Given the description of an element on the screen output the (x, y) to click on. 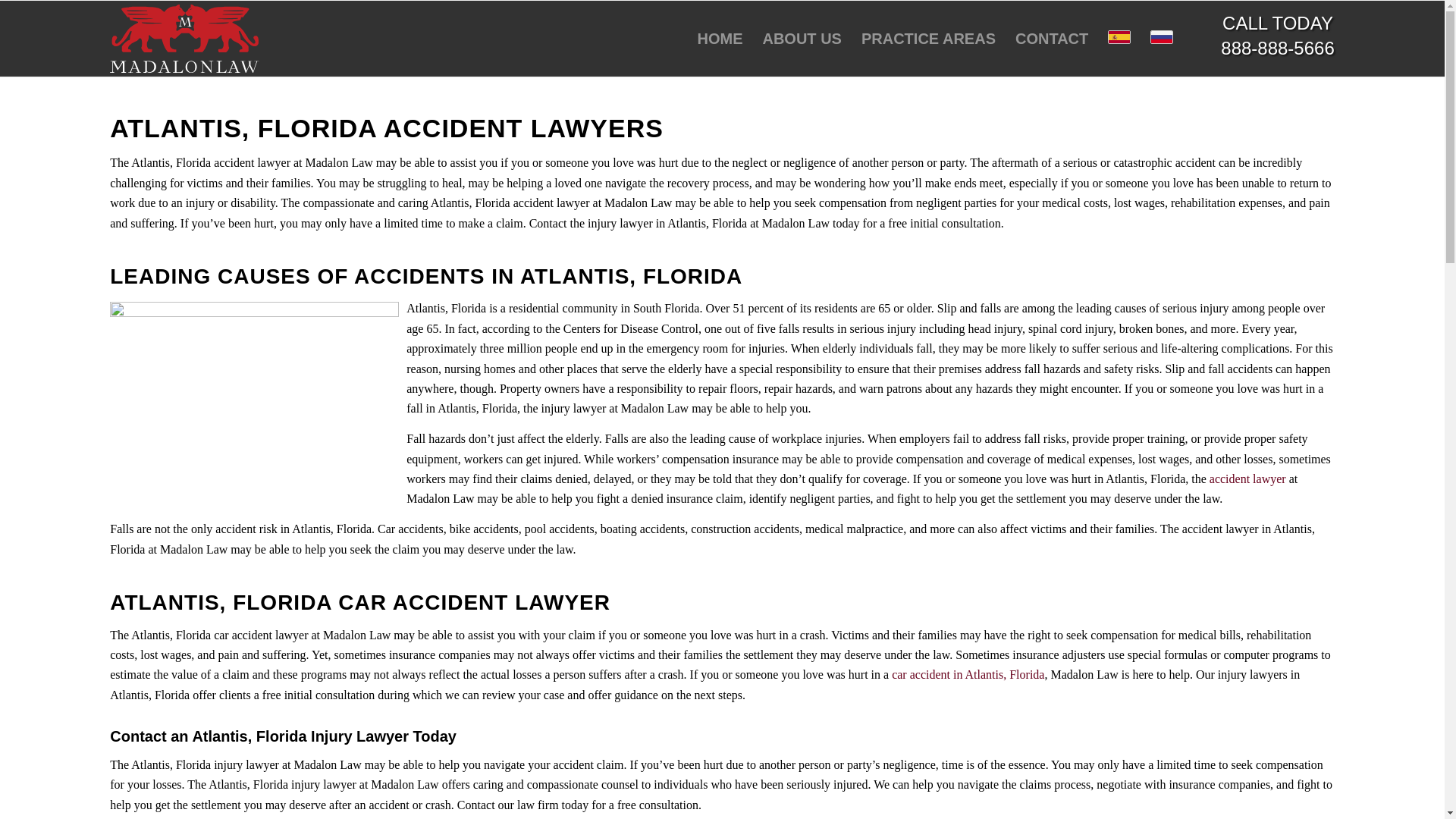
logo-red-white-white (184, 38)
PRACTICE AREAS (928, 38)
logo-red-white-white (184, 38)
CONTACT (1051, 38)
888-888-5666 (1277, 47)
accident lawyer (1247, 478)
ABOUT US (801, 38)
car accident in Atlantis, Florida (967, 674)
CALL TODAY (1278, 23)
